Given the description of an element on the screen output the (x, y) to click on. 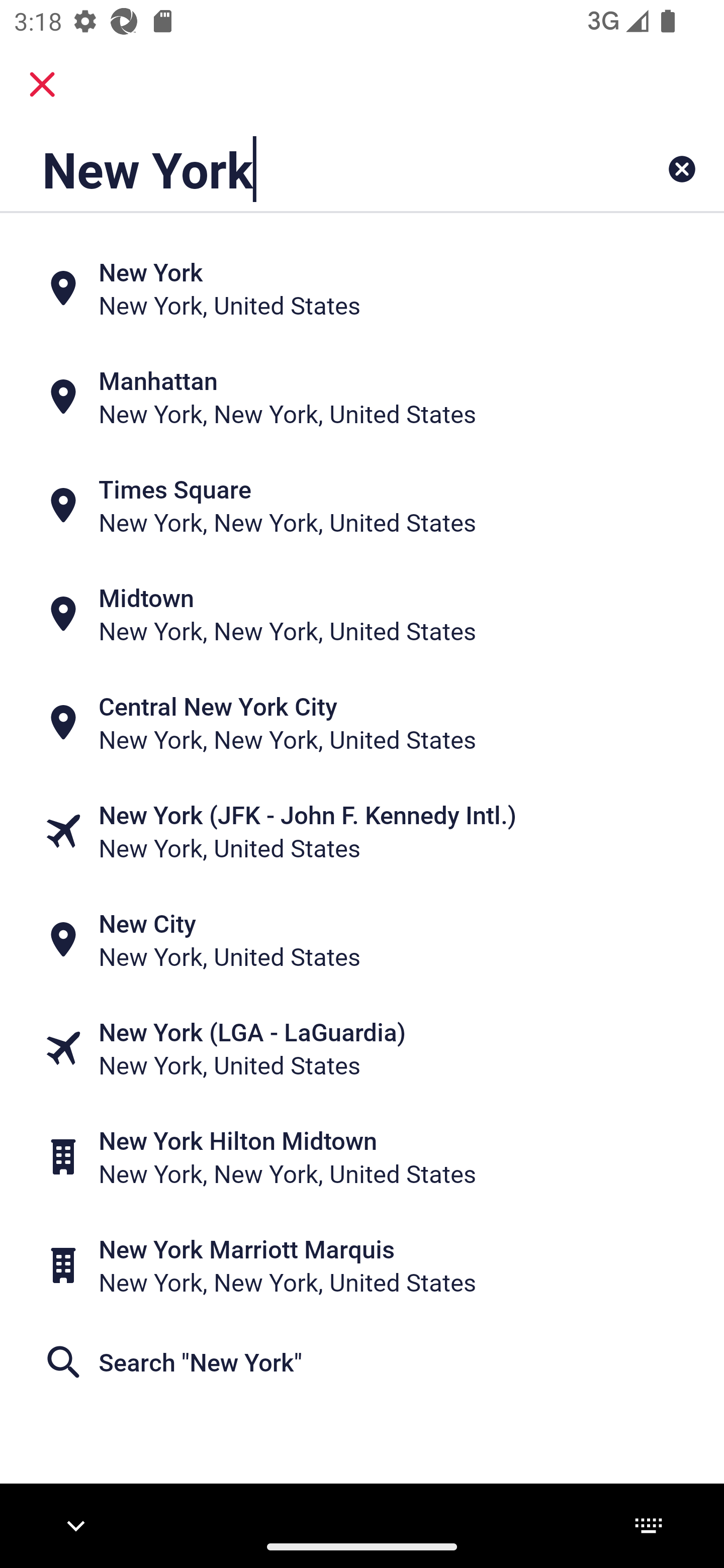
close. (42, 84)
Clear (681, 169)
New York (298, 169)
New York New York, United States (362, 288)
Manhattan New York, New York, United States (362, 397)
Times Square New York, New York, United States (362, 505)
Midtown New York, New York, United States (362, 613)
New City New York, United States (362, 939)
New York (LGA - LaGuardia) New York, United States (362, 1048)
Search "New York" (362, 1362)
